Given the description of an element on the screen output the (x, y) to click on. 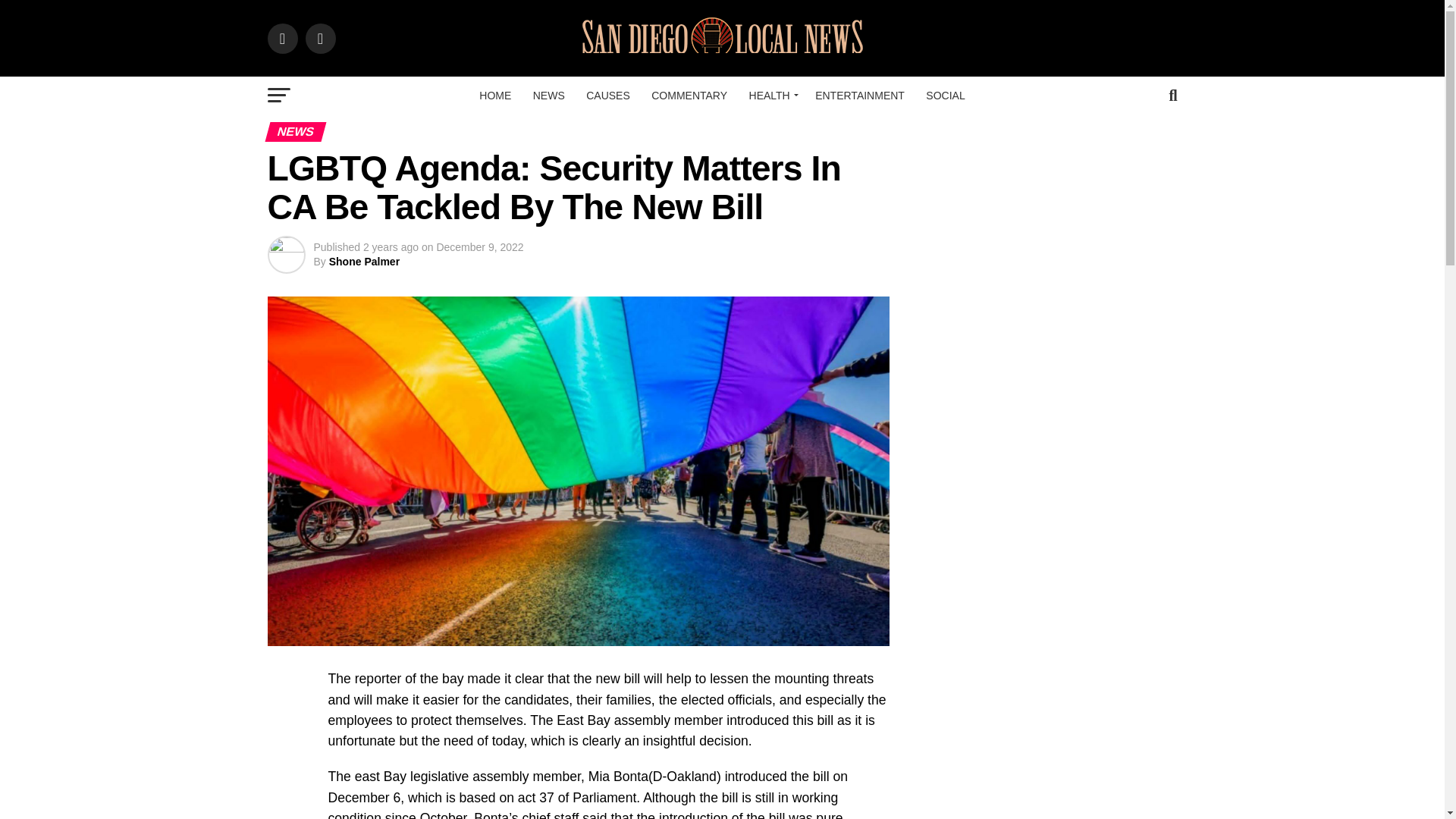
CAUSES (607, 95)
COMMENTARY (689, 95)
Posts by Shone Palmer (363, 261)
Shone Palmer (363, 261)
ENTERTAINMENT (860, 95)
SOCIAL (945, 95)
HEALTH (771, 95)
HOME (494, 95)
NEWS (548, 95)
